Given the description of an element on the screen output the (x, y) to click on. 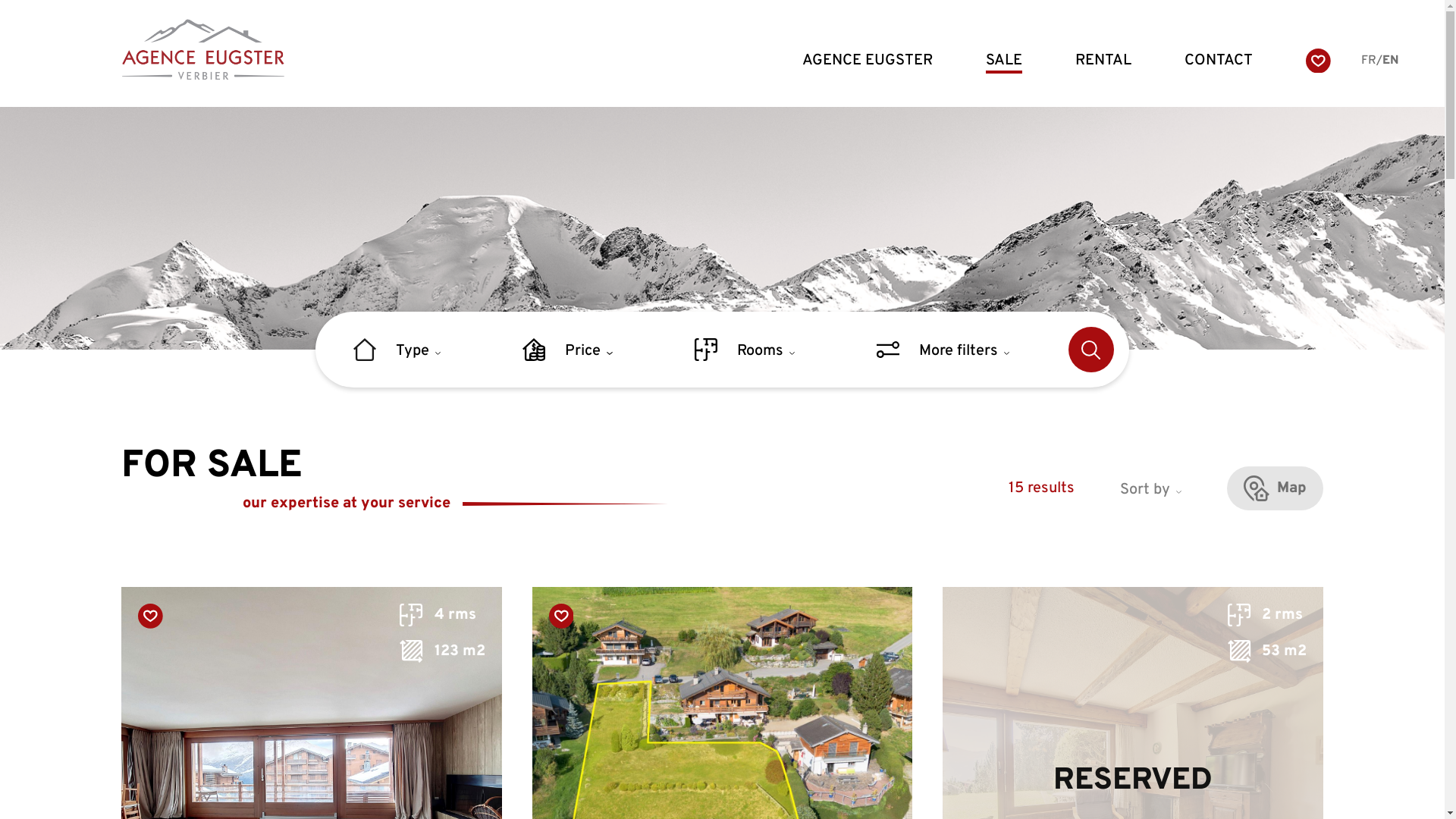
EN Element type: text (1390, 60)
CONTACT Element type: text (1218, 60)
FR Element type: text (1368, 60)
RENTAL Element type: text (1103, 60)
SALE Element type: text (1003, 60)
AGENCE EUGSTER Element type: text (867, 60)
Map Element type: text (1274, 488)
